Given the description of an element on the screen output the (x, y) to click on. 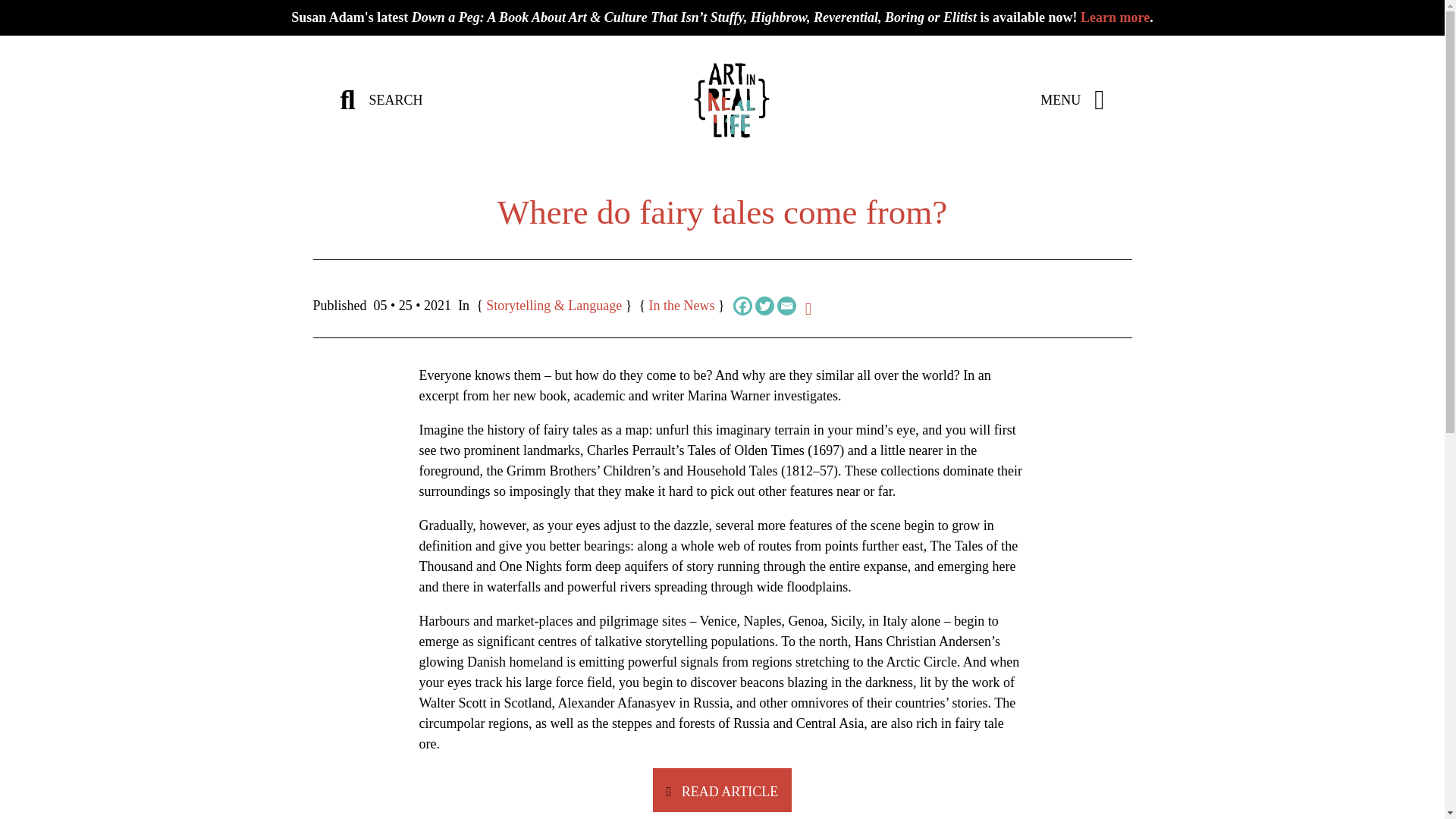
Facebook (742, 305)
Open external article in a new tab. (722, 790)
ARL Logo (732, 100)
Learn more (1115, 17)
Twitter (764, 305)
Aggregator article archives (681, 305)
Email (786, 305)
